Given the description of an element on the screen output the (x, y) to click on. 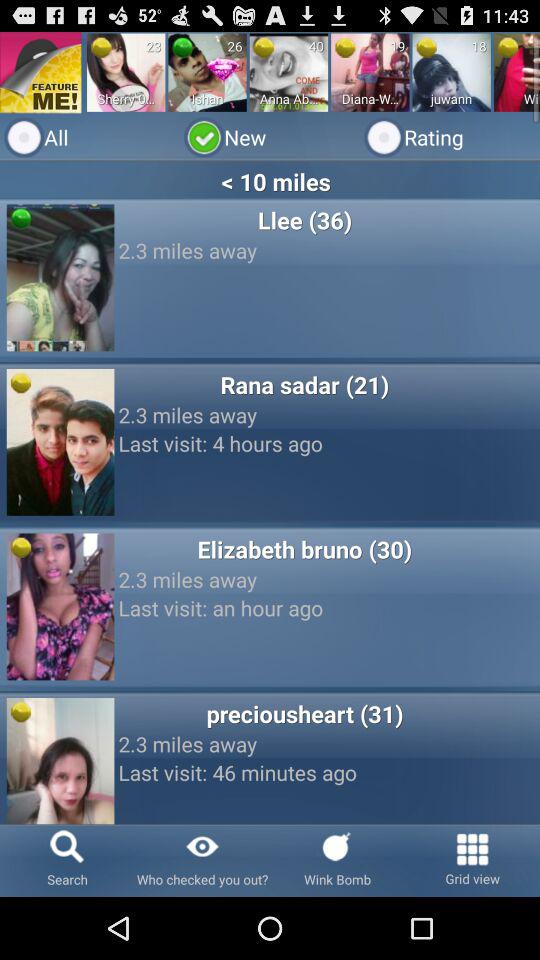
choose radio button above the new icon (370, 72)
